Given the description of an element on the screen output the (x, y) to click on. 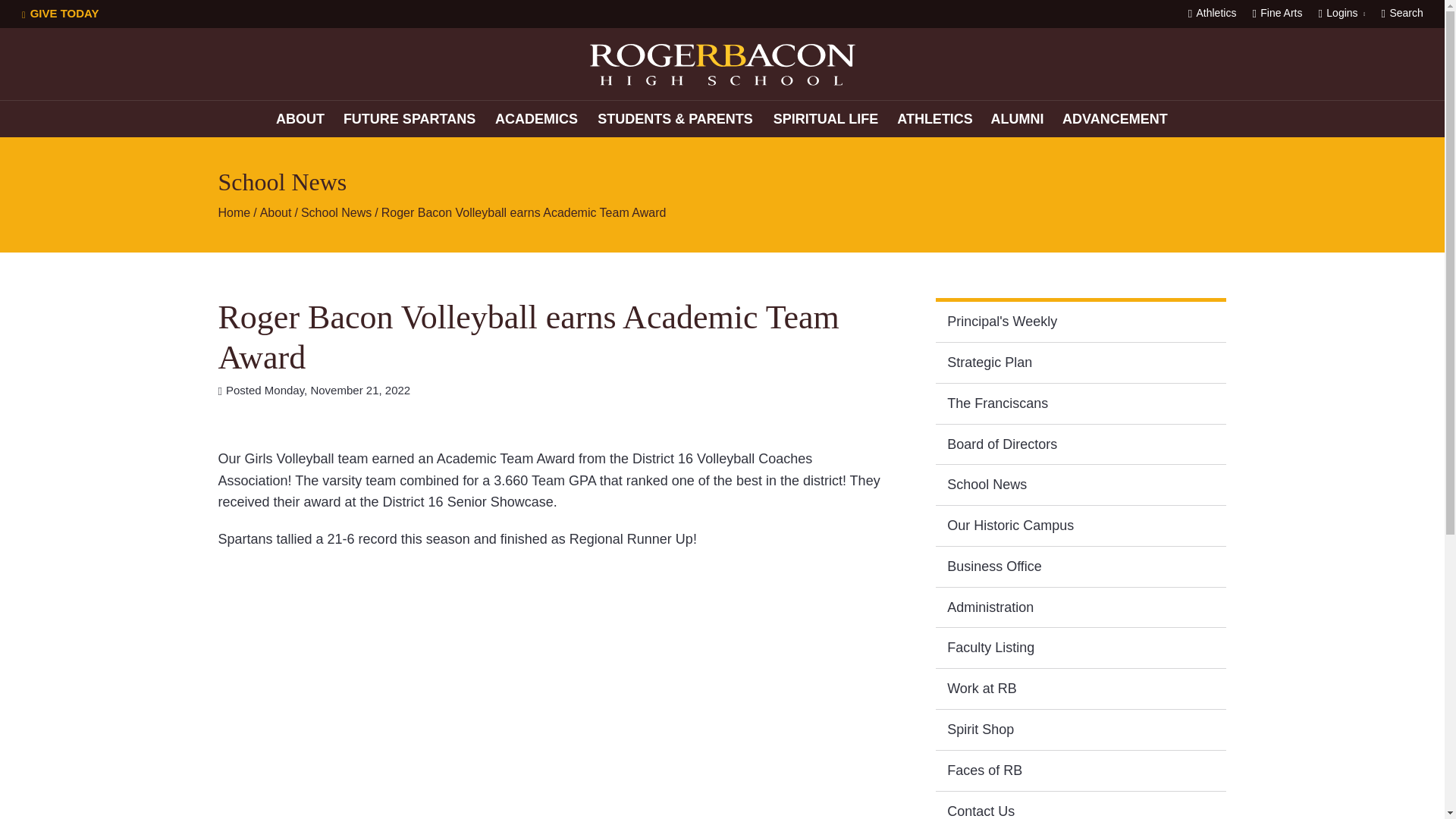
Search (1402, 12)
GIVE TODAY (60, 13)
Athletics (1211, 12)
ABOUT (299, 118)
FUTURE SPARTANS (408, 118)
Logins (1341, 13)
Fine Arts (1277, 12)
